Given the description of an element on the screen output the (x, y) to click on. 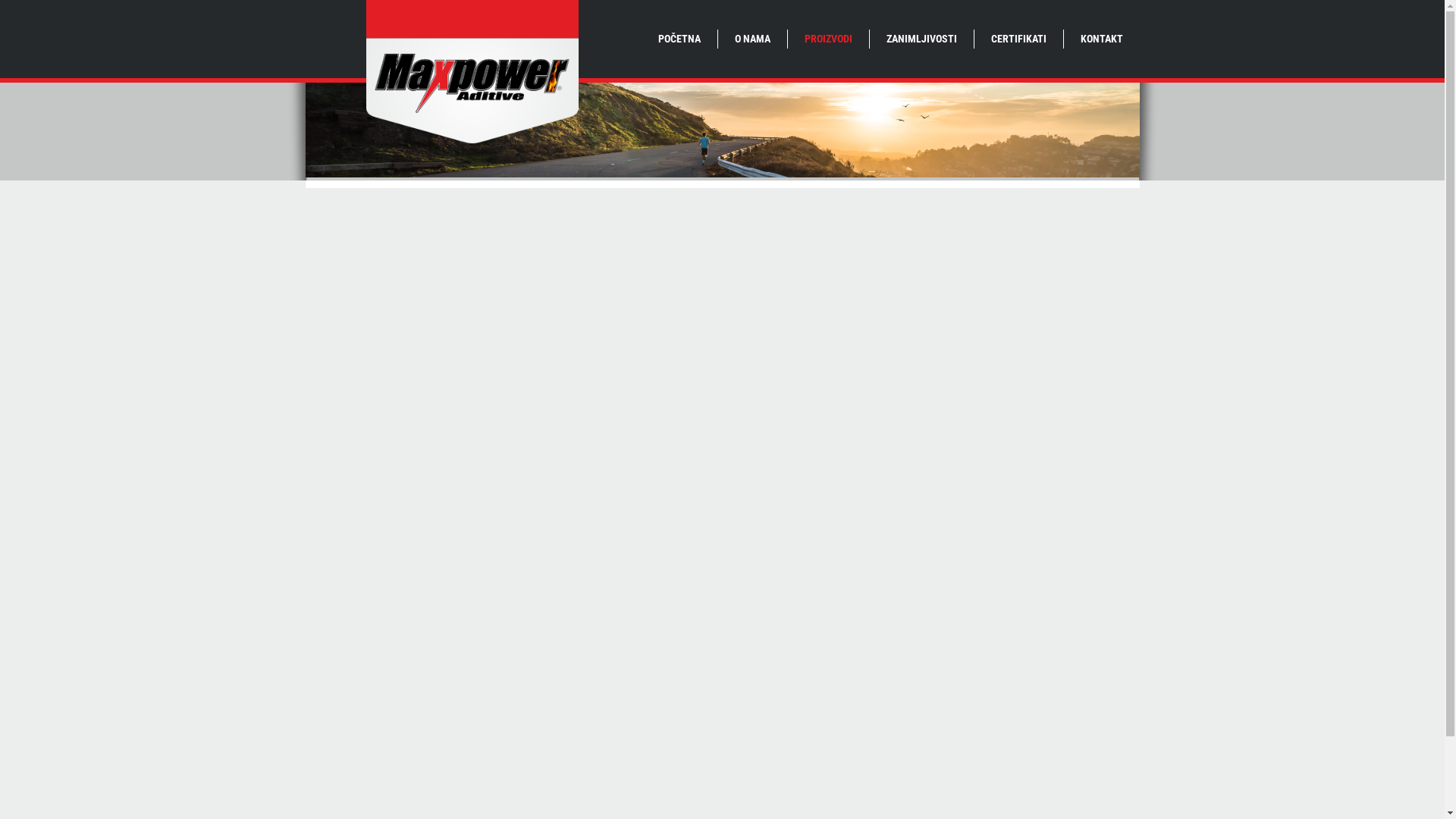
KONTAKT Element type: text (1101, 38)
CERTIFIKATI Element type: text (1018, 38)
O NAMA Element type: text (752, 38)
PROIZVODI Element type: text (828, 38)
ZANIMLJIVOSTI Element type: text (921, 38)
